Given the description of an element on the screen output the (x, y) to click on. 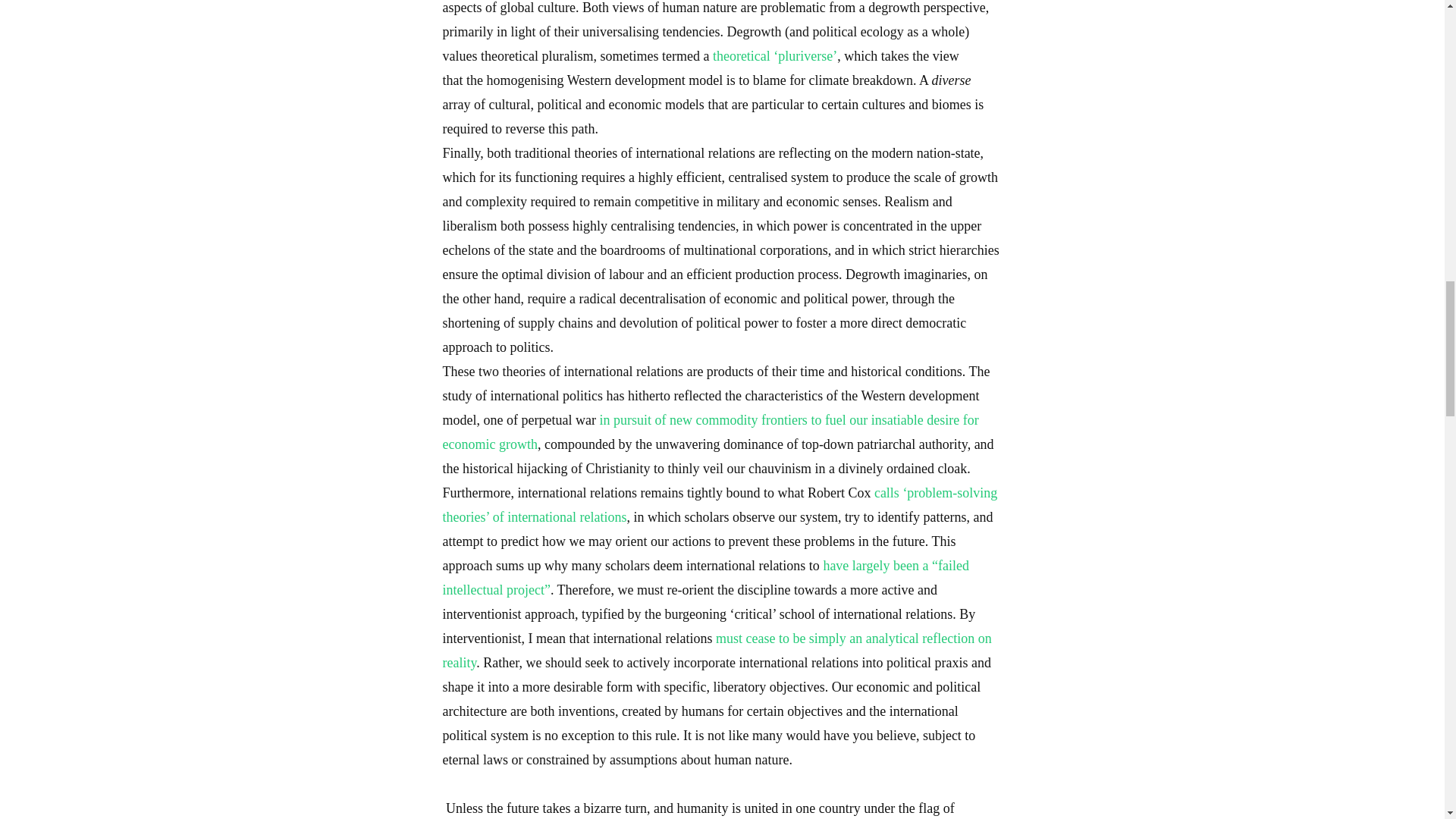
must cease to be simply an analytical reflection on reality (716, 650)
